Given the description of an element on the screen output the (x, y) to click on. 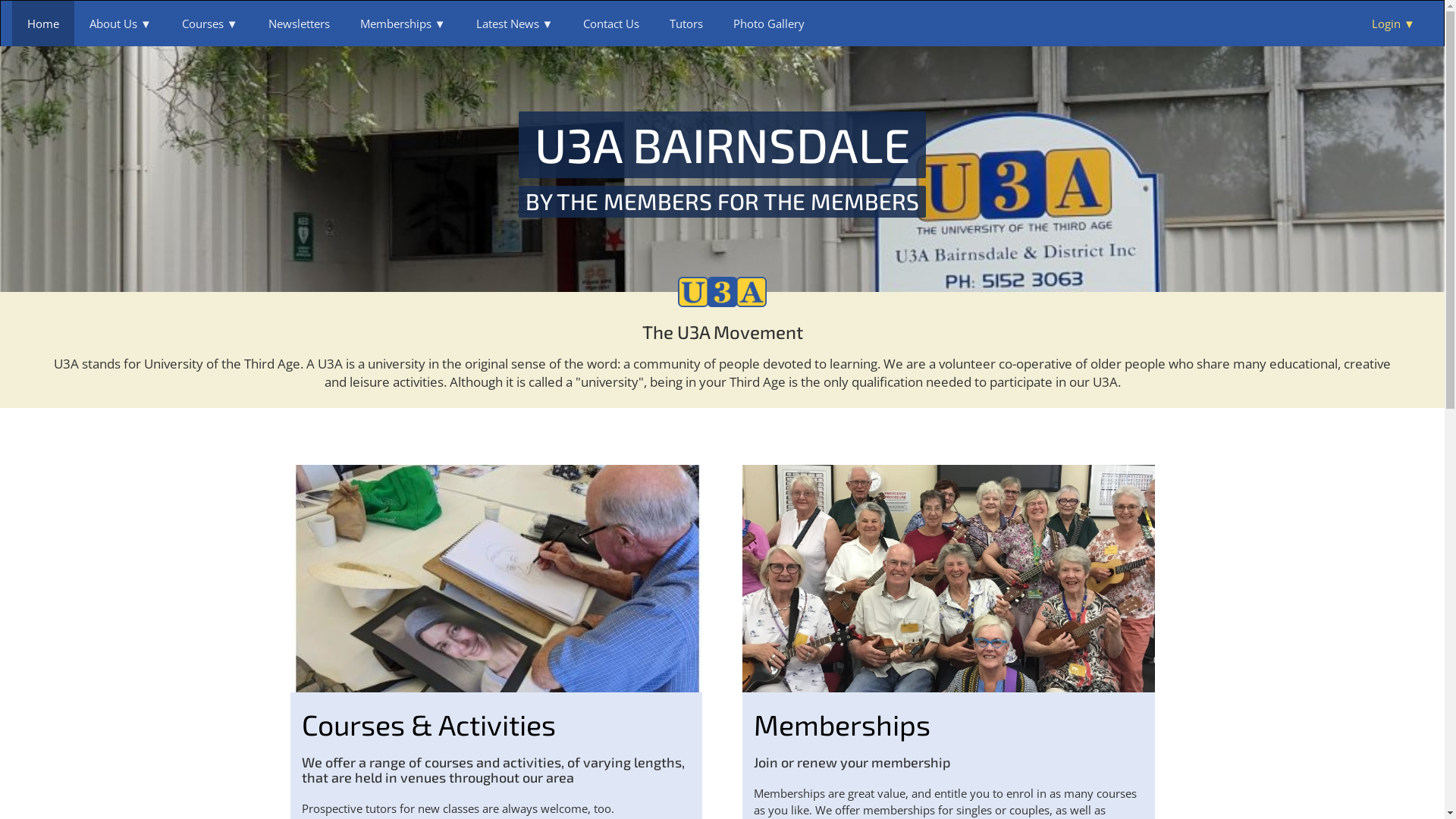
About Us Element type: text (120, 23)
Photo Gallery Element type: text (768, 23)
Memberships Element type: text (403, 23)
Courses Element type: text (209, 23)
Courses & Activities Element type: hover (495, 578)
Memberships Element type: hover (948, 578)
Home Element type: text (43, 23)
Newsletters Element type: text (299, 23)
Login Element type: text (1394, 23)
Tutors Element type: text (686, 23)
Contact Us Element type: text (610, 23)
Latest News Element type: text (514, 23)
Memberships Element type: text (841, 724)
Courses & Activities Element type: text (428, 724)
U3A BAIRNSDALE
BY THE MEMBERS FOR THE MEMBERS Element type: text (721, 163)
